Given the description of an element on the screen output the (x, y) to click on. 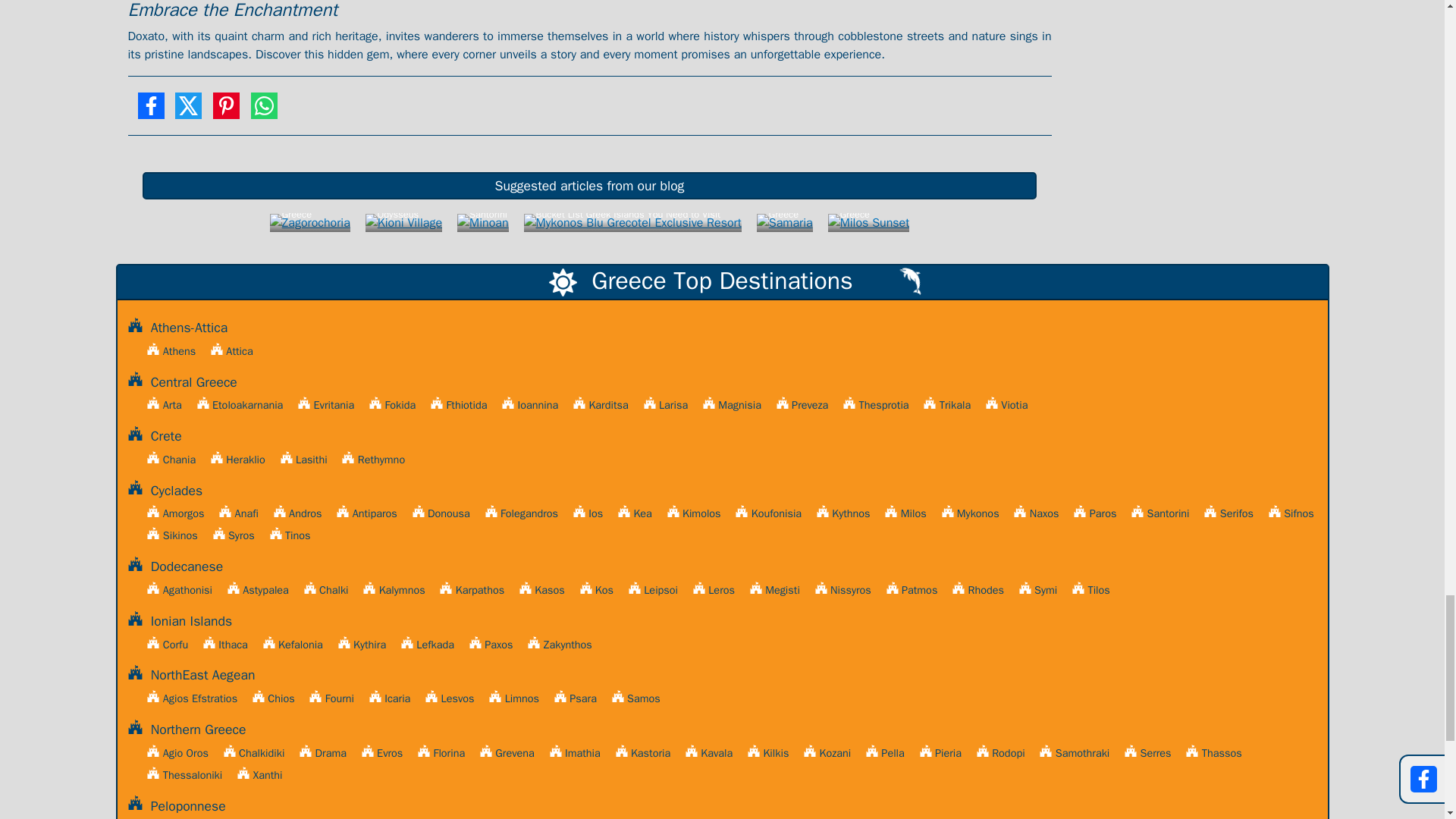
Top 10 Locations to Watch the Sunset in Greece (869, 222)
Bucket List Greek Islands You Need to Visit (631, 222)
Top 10 Locations to Watch the Sunset in Greece (869, 222)
Twitter (188, 111)
WhatsApp (264, 111)
Facebook (150, 111)
5 Destinations for Winter Magic in Greece (310, 222)
Ithaca - the Island of Odysseus (403, 222)
Ithaca - the Island of Odysseus (403, 222)
5 Destinations for Winter Magic in Greece (310, 222)
